Given the description of an element on the screen output the (x, y) to click on. 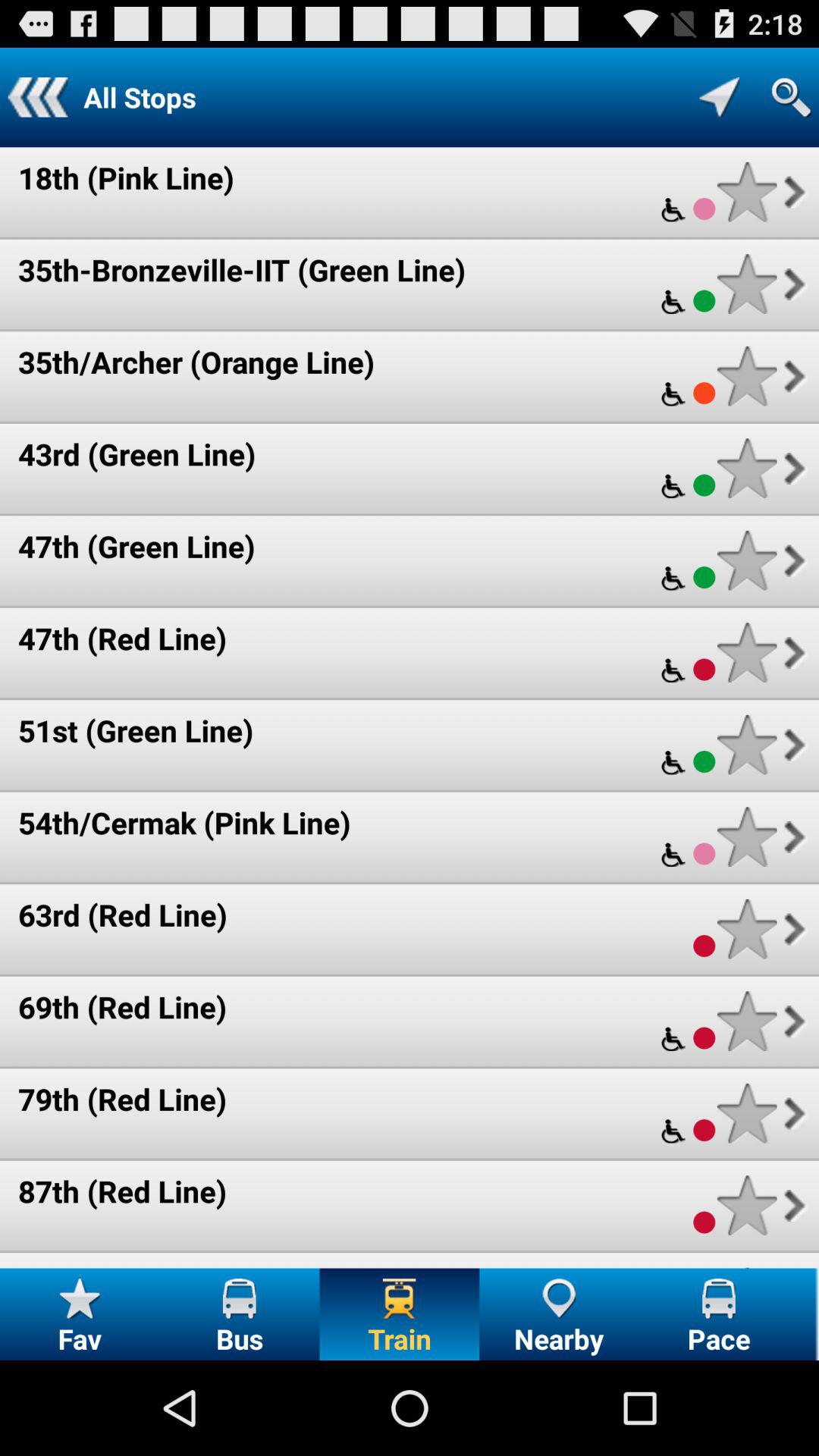
mark as favorite (746, 1021)
